Given the description of an element on the screen output the (x, y) to click on. 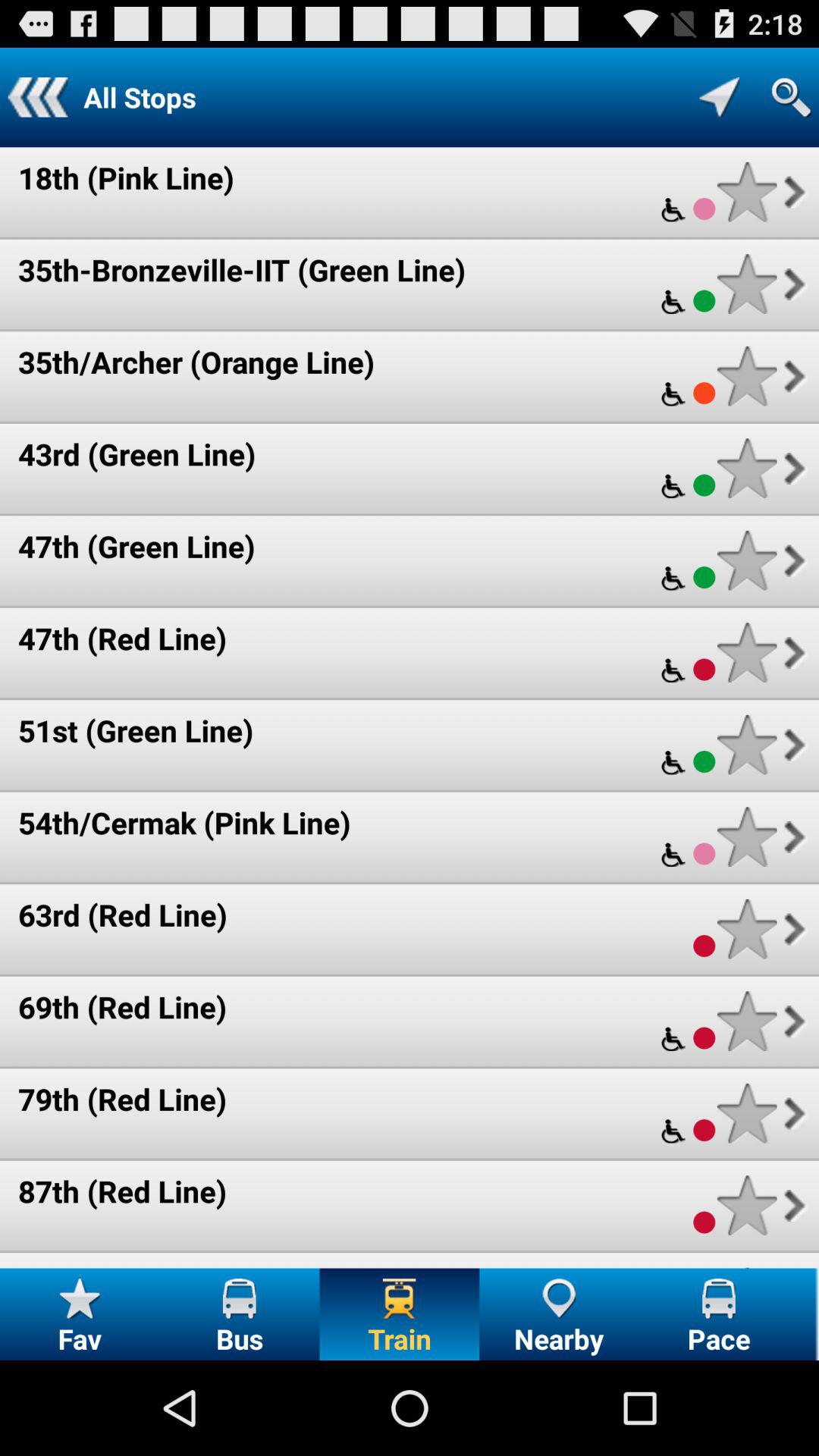
mark as favorite (746, 1021)
